Given the description of an element on the screen output the (x, y) to click on. 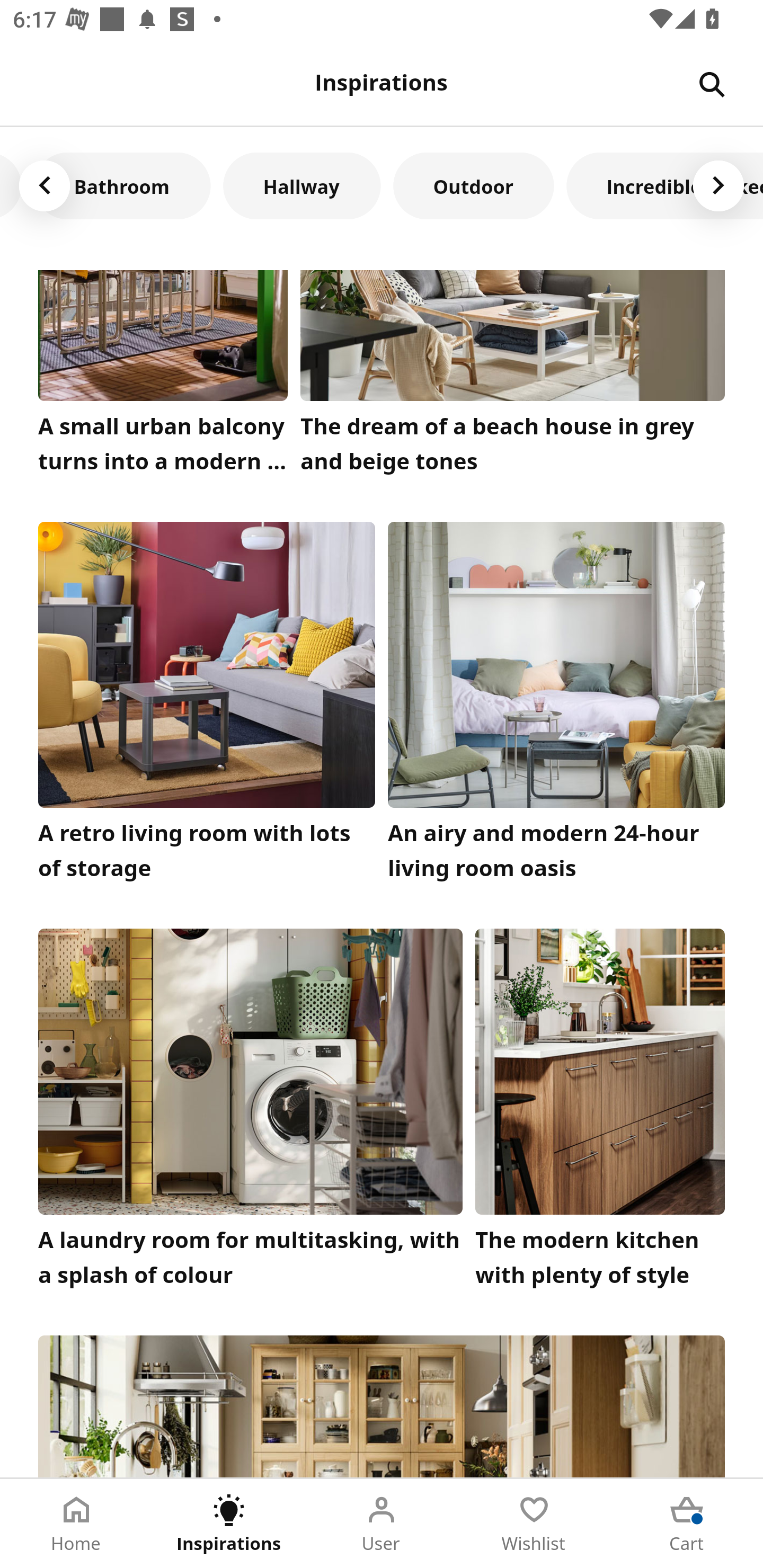
Bathroom (121, 185)
Hallway (301, 185)
Outdoor (472, 185)
The dream of a beach house in grey and beige tones (512, 375)
A retro living room with lots of storage (206, 706)
An airy and modern 24-hour living room oasis (555, 706)
The modern kitchen with plenty of style (599, 1112)
Home
Tab 1 of 5 (76, 1522)
Inspirations
Tab 2 of 5 (228, 1522)
User
Tab 3 of 5 (381, 1522)
Wishlist
Tab 4 of 5 (533, 1522)
Cart
Tab 5 of 5 (686, 1522)
